Given the description of an element on the screen output the (x, y) to click on. 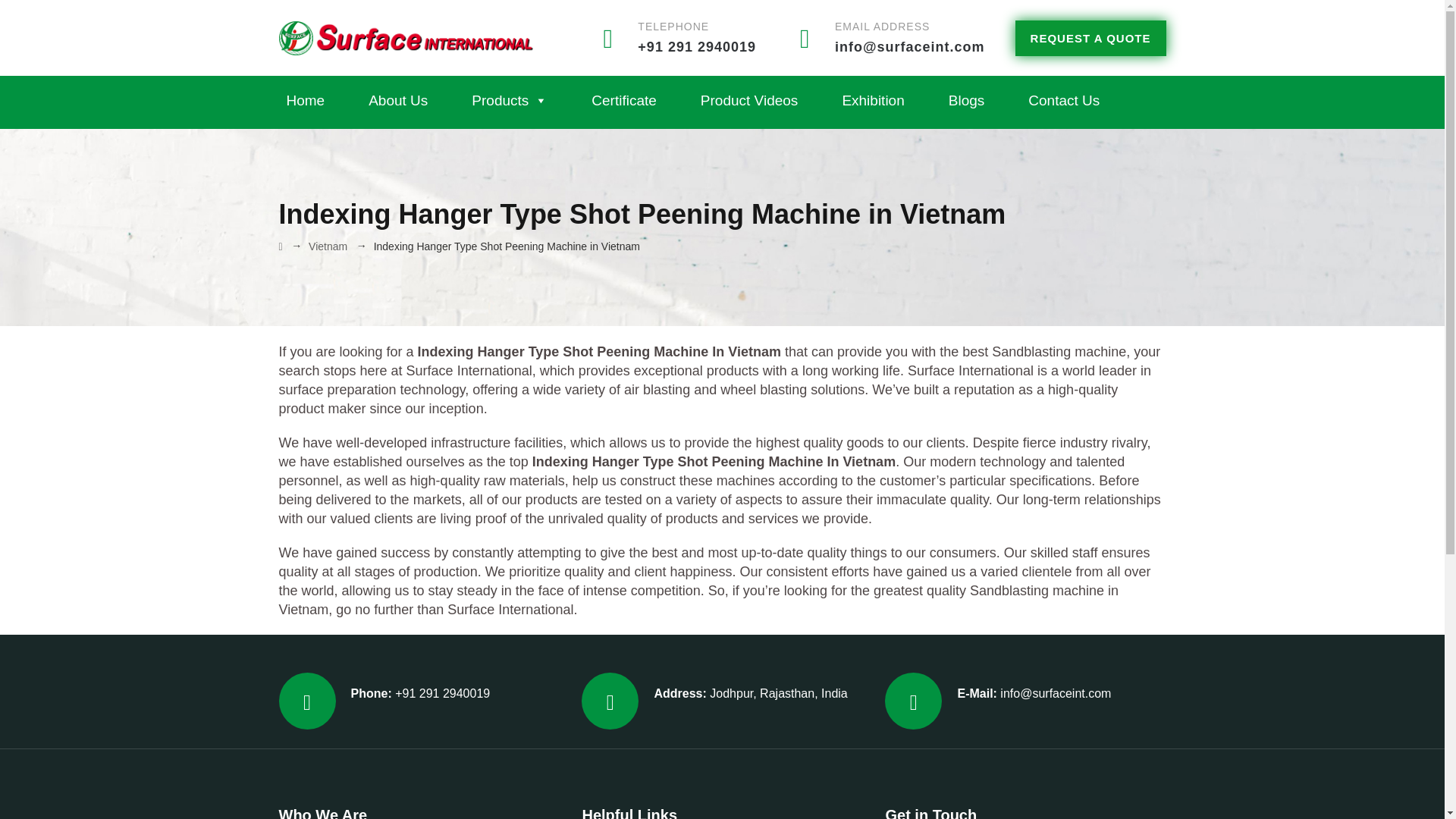
Exhibition (872, 100)
Indexing Hanger Type Shot Peening Machine in Vietnam (713, 461)
Home (306, 100)
Products (509, 100)
Vietnam (327, 246)
Product Videos (749, 100)
REQUEST A QUOTE (1090, 37)
Indexing Hanger Type Shot Peening Machine in Vietnam (598, 351)
Certificate (623, 100)
About Us (398, 100)
Go to Vietnam. (327, 246)
Blogs (966, 100)
Contact Us (1063, 100)
